Given the description of an element on the screen output the (x, y) to click on. 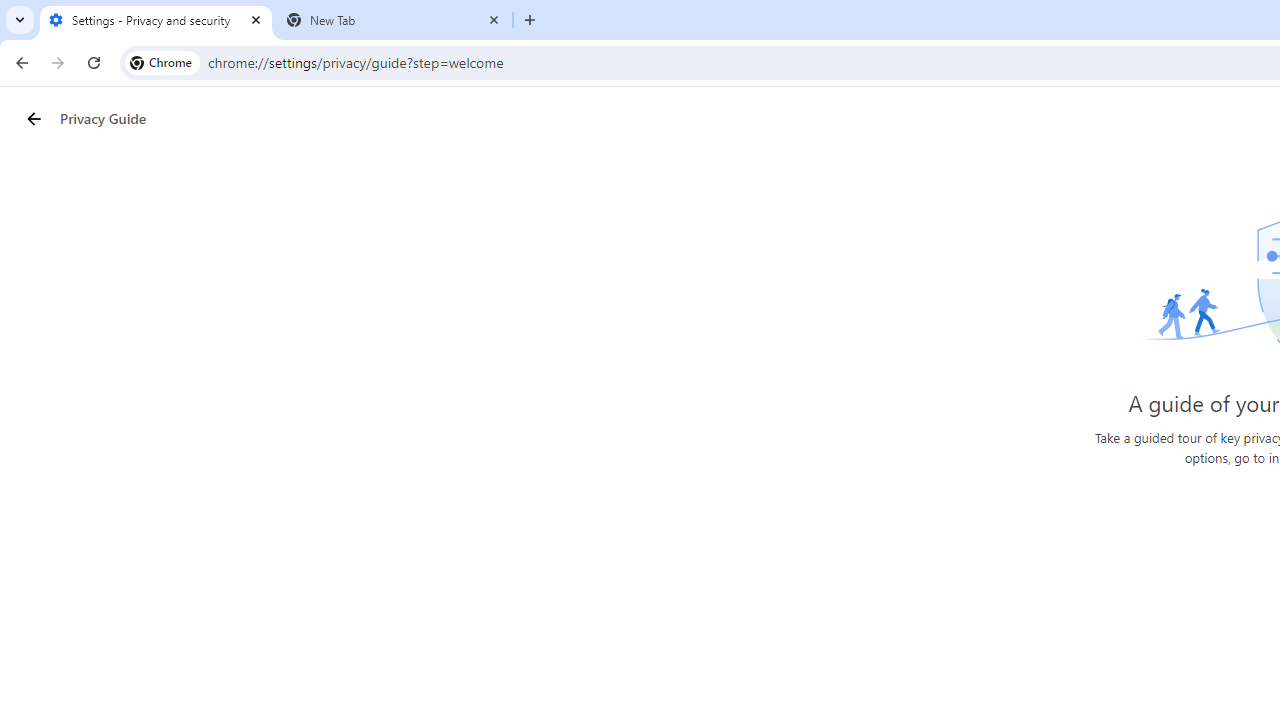
Settings - Privacy and security (156, 20)
New Tab (394, 20)
Privacy Guide back button (33, 118)
